Given the description of an element on the screen output the (x, y) to click on. 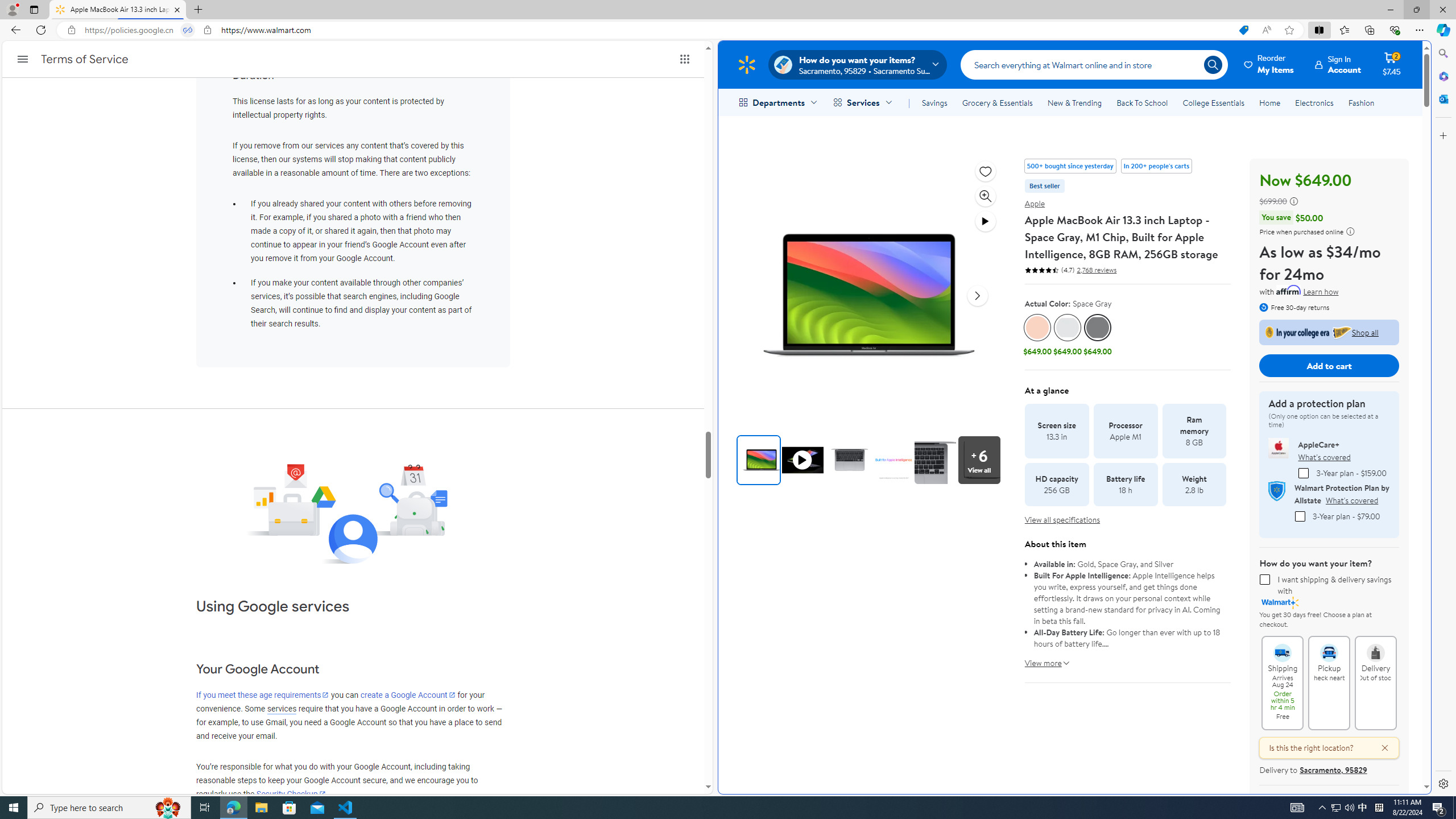
Learn how (1321, 291)
Sign InAccount (1338, 64)
Customize (1442, 135)
Close Search pane (1442, 53)
Tabs in split screen (187, 29)
Walmart Homepage (746, 64)
Class: absolute pointer (802, 459)
Electronics (1314, 102)
